Given the description of an element on the screen output the (x, y) to click on. 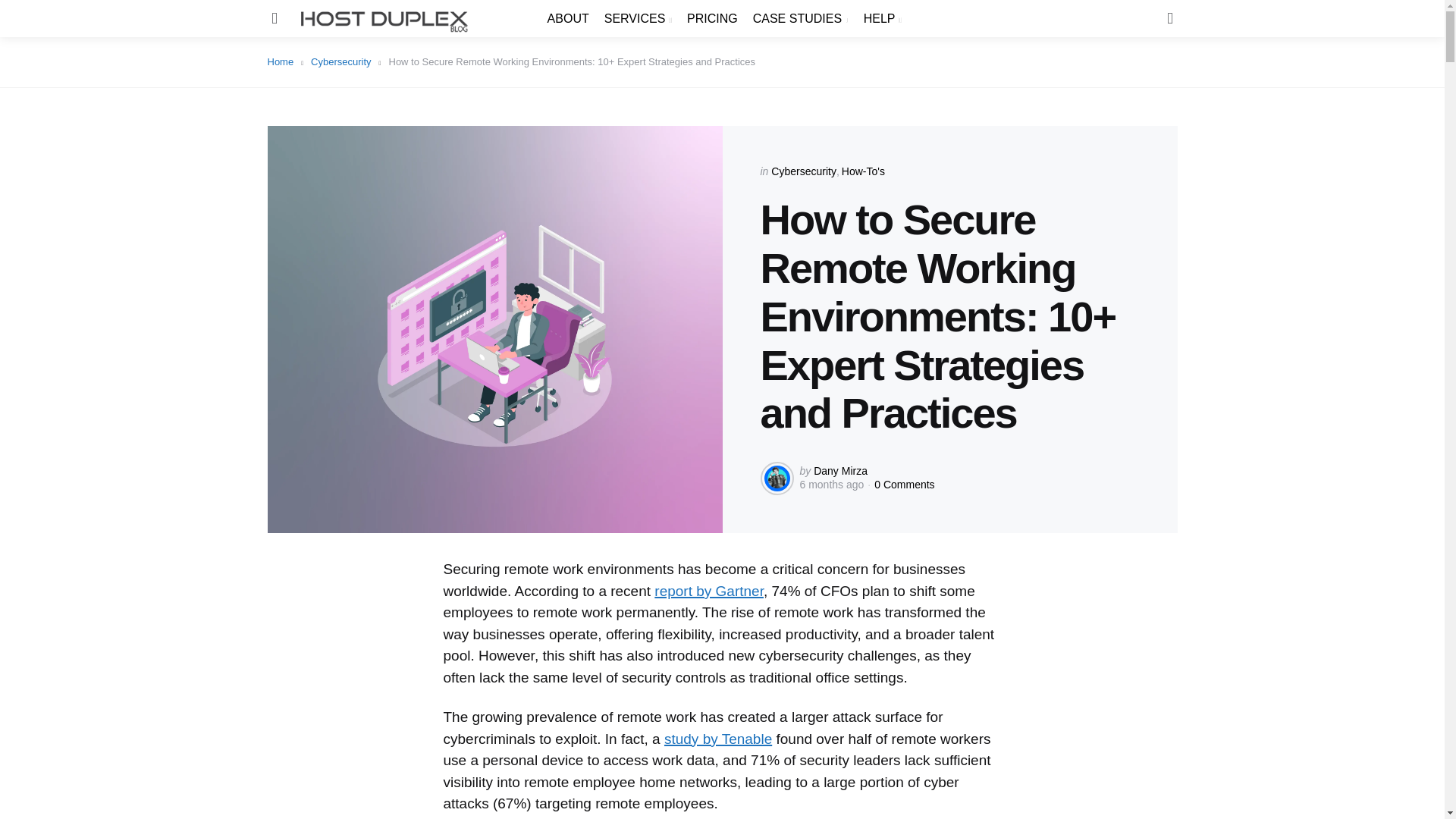
CASE STUDIES (800, 18)
Cybersecurity (345, 61)
Cybersecurity (803, 171)
Home (284, 61)
How-To's (863, 171)
SERVICES (637, 18)
HELP (882, 18)
Dany Mirza (840, 470)
0 Comments (904, 484)
PRICING (712, 18)
ABOUT (568, 18)
